Given the description of an element on the screen output the (x, y) to click on. 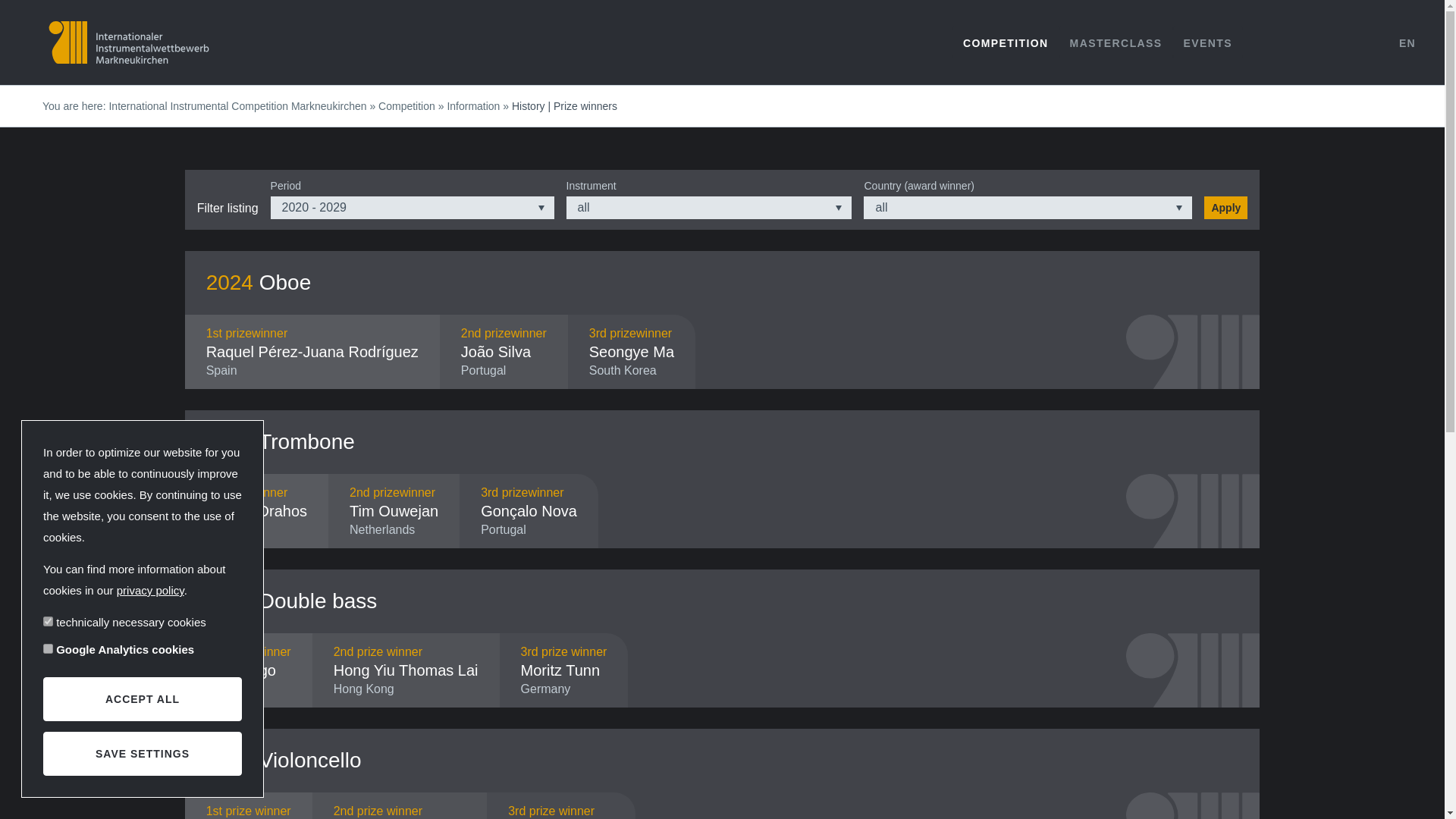
SUCHE (1364, 42)
COMPETITION (1005, 42)
EVENTS (1208, 42)
MASTERCLASS (1116, 42)
EN (1407, 42)
back to home (128, 42)
1 (47, 621)
1 (47, 648)
